Given the description of an element on the screen output the (x, y) to click on. 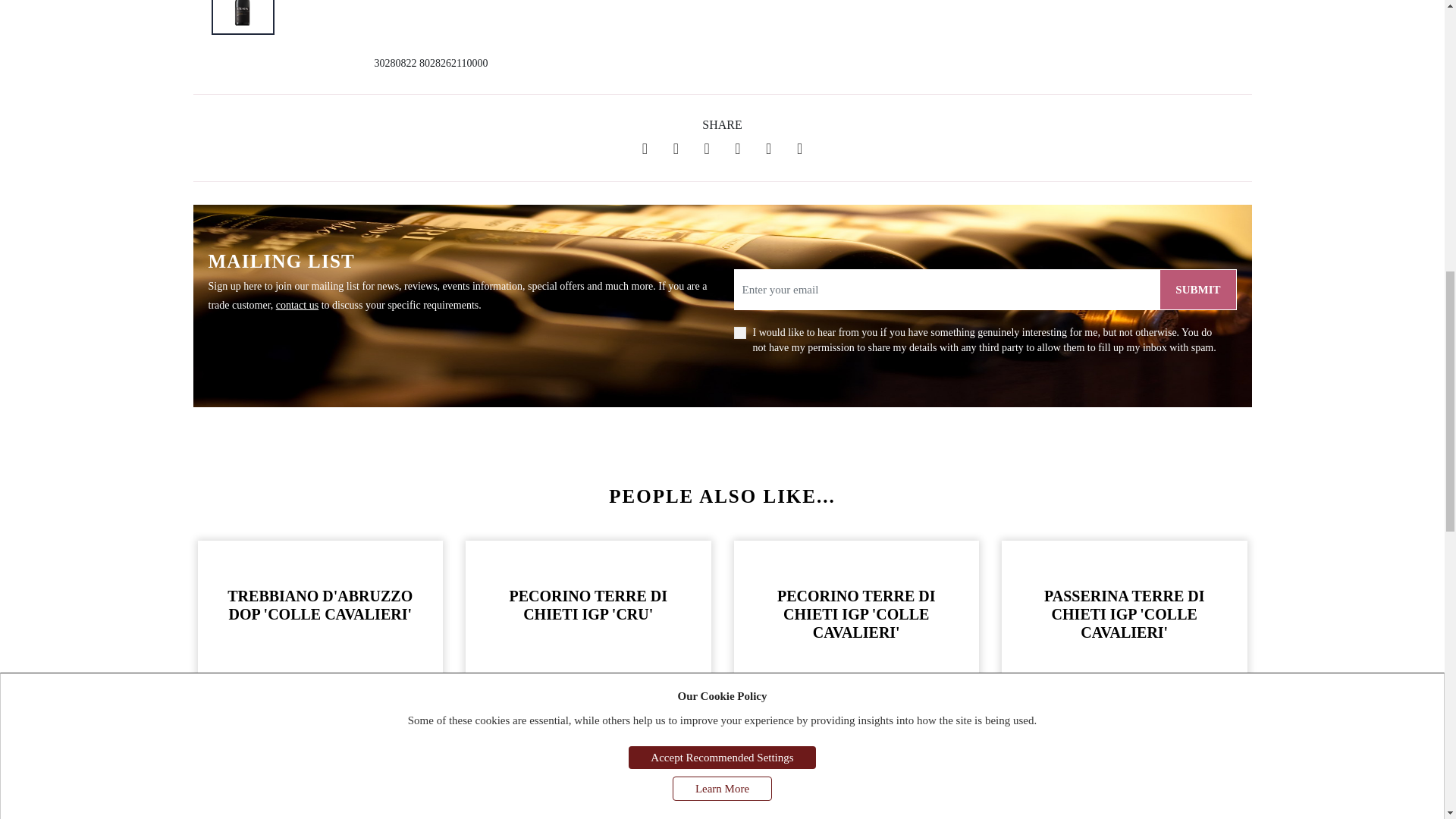
Share on twitter (676, 148)
Share on email (737, 148)
Share on whatsapp (768, 148)
Share on sharethis (799, 148)
Share on facebook (644, 148)
Share on linkedin (706, 148)
